Given the description of an element on the screen output the (x, y) to click on. 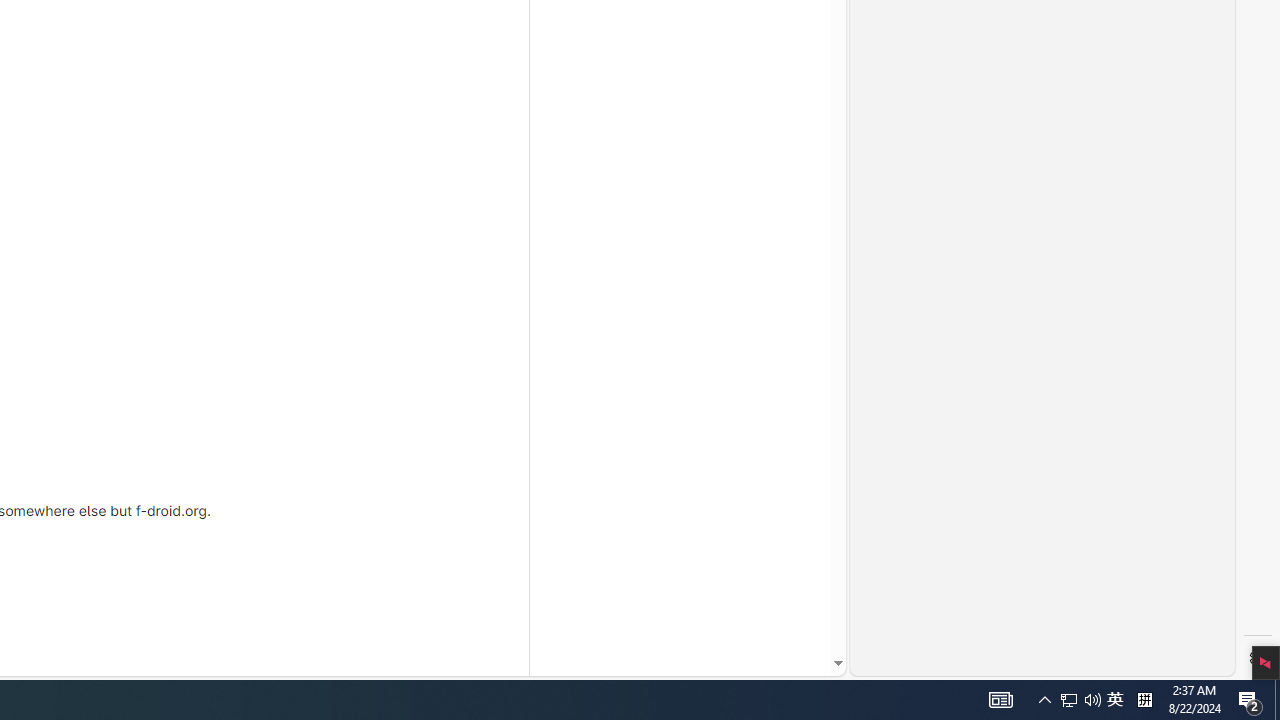
Notification Chevron (1044, 699)
Q2790: 100% (1115, 699)
User Promoted Notification Area (1069, 699)
Action Center, 2 new notifications (1092, 699)
Tray Input Indicator - Chinese (Simplified, China) (1080, 699)
AutomationID: 4105 (1250, 699)
Show desktop (1144, 699)
